Given the description of an element on the screen output the (x, y) to click on. 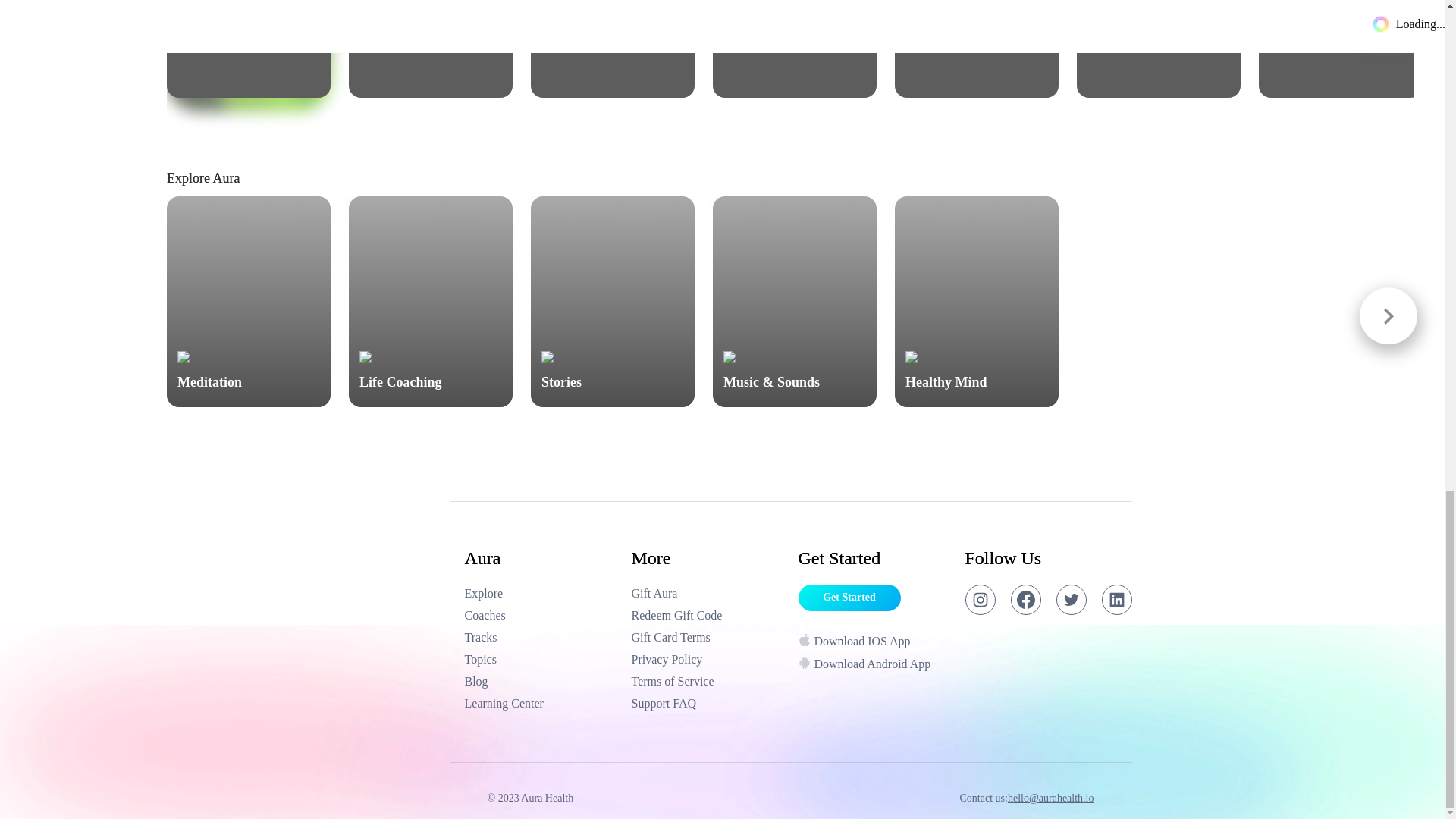
Redeem Gift Code (706, 615)
Privacy Policy (706, 659)
Support FAQ (706, 703)
Coaches (976, 48)
Explore (539, 615)
Blog (794, 48)
Gift Card Terms (539, 593)
